Given the description of an element on the screen output the (x, y) to click on. 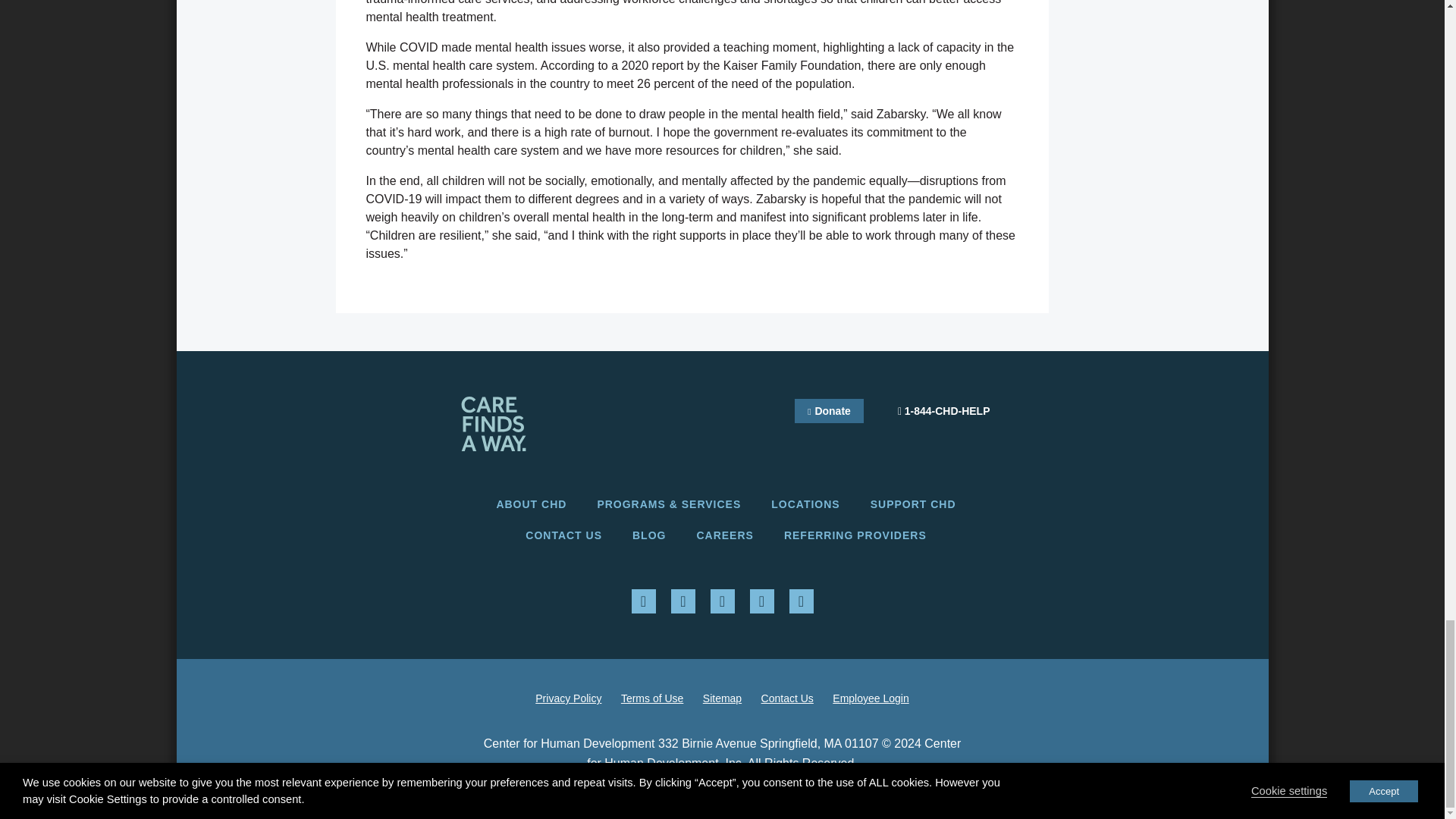
1-844-CHD-HELP (944, 410)
ABOUT CHD (531, 504)
Donate (828, 410)
